Given the description of an element on the screen output the (x, y) to click on. 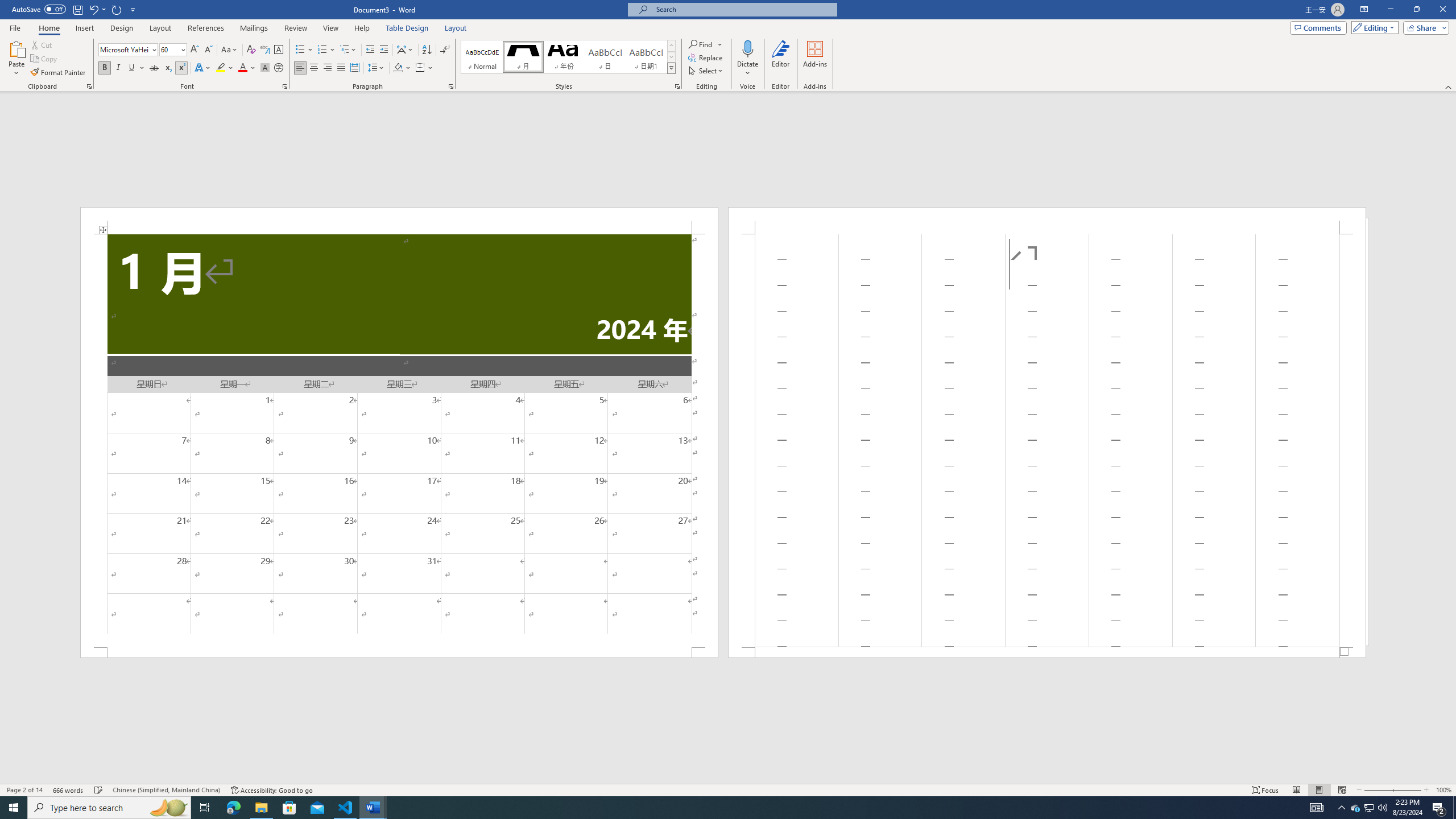
Text Highlight Color (224, 67)
Subscript (167, 67)
Page 1 content (398, 440)
Font Size (169, 49)
AutoSave (38, 9)
Word Count 666 words (68, 790)
Bullets (304, 49)
Restore Down (1416, 9)
Center (313, 67)
Distributed (354, 67)
Shading (402, 67)
